Given the description of an element on the screen output the (x, y) to click on. 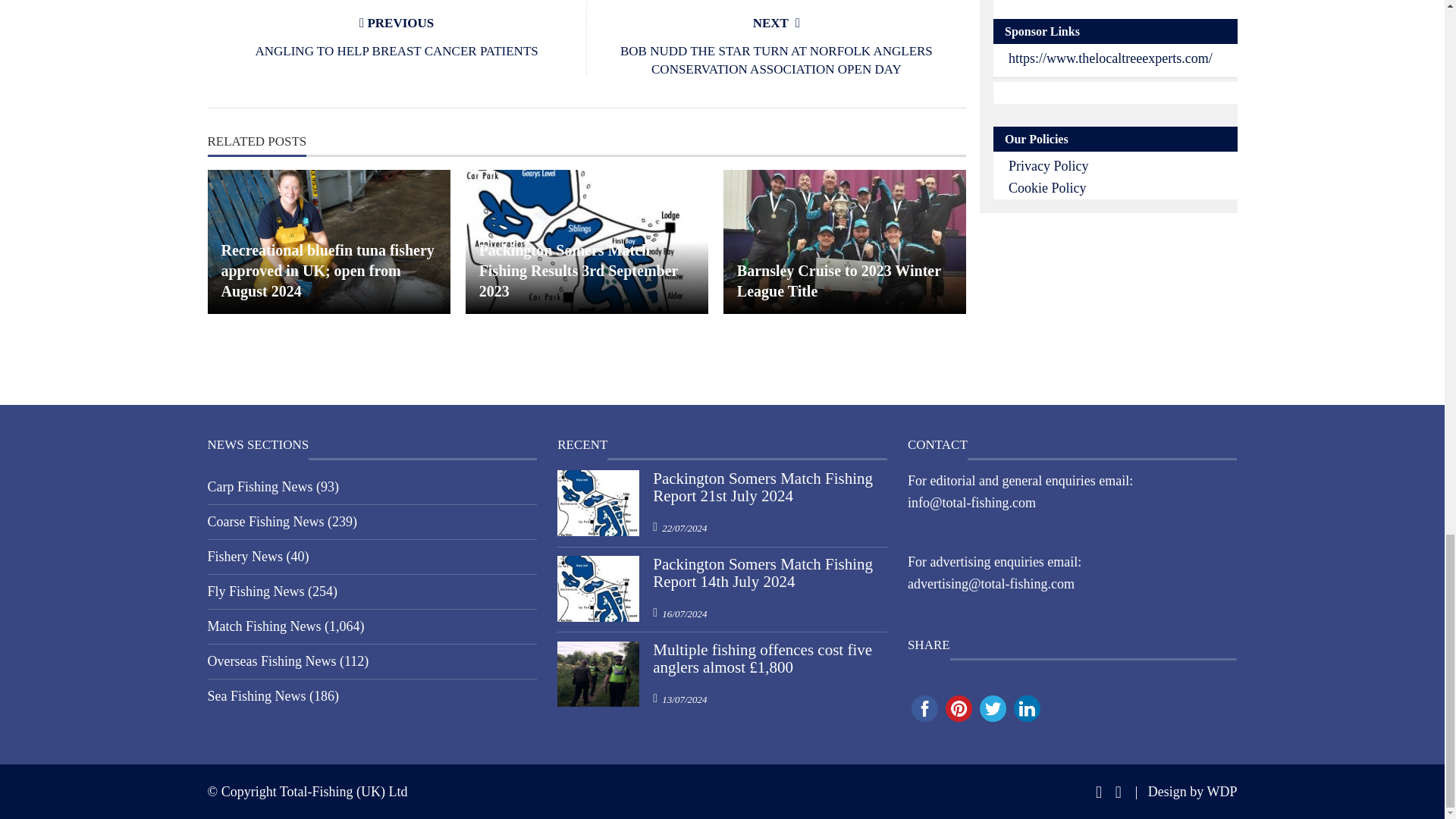
Cookie Policy (1047, 187)
Privacy Policy (1049, 165)
